Given the description of an element on the screen output the (x, y) to click on. 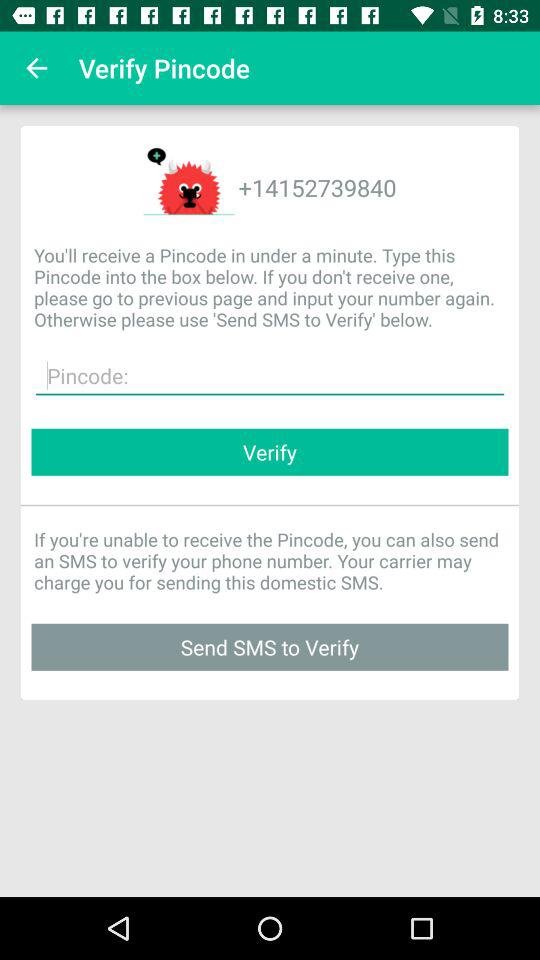
enter the pincode (269, 375)
